Given the description of an element on the screen output the (x, y) to click on. 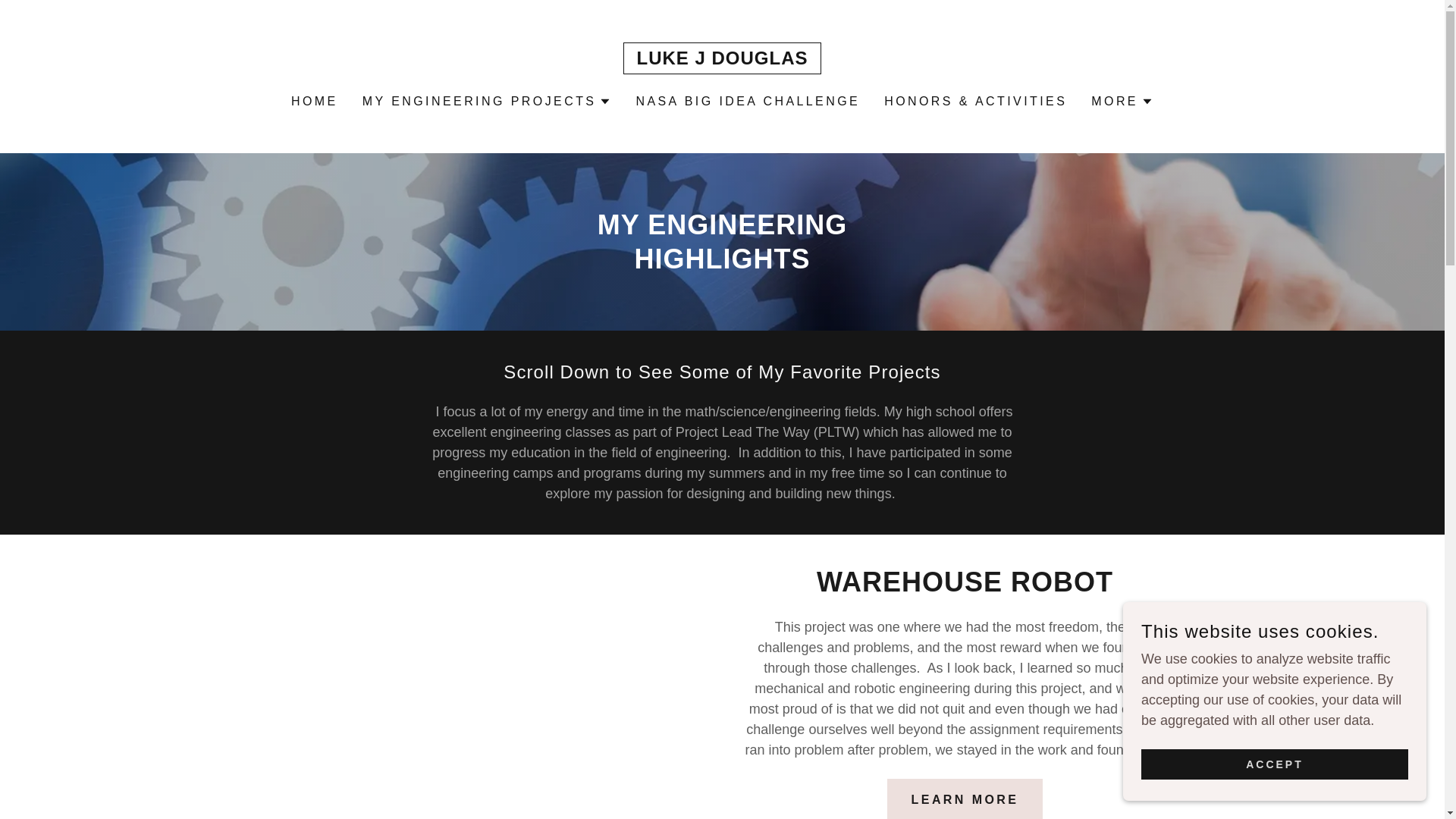
LUKE J DOUGLAS (722, 59)
NASA BIG IDEA CHALLENGE (747, 101)
MY ENGINEERING PROJECTS (486, 101)
MORE (1121, 101)
Luke J Douglas (722, 59)
HOME (314, 101)
